Given the description of an element on the screen output the (x, y) to click on. 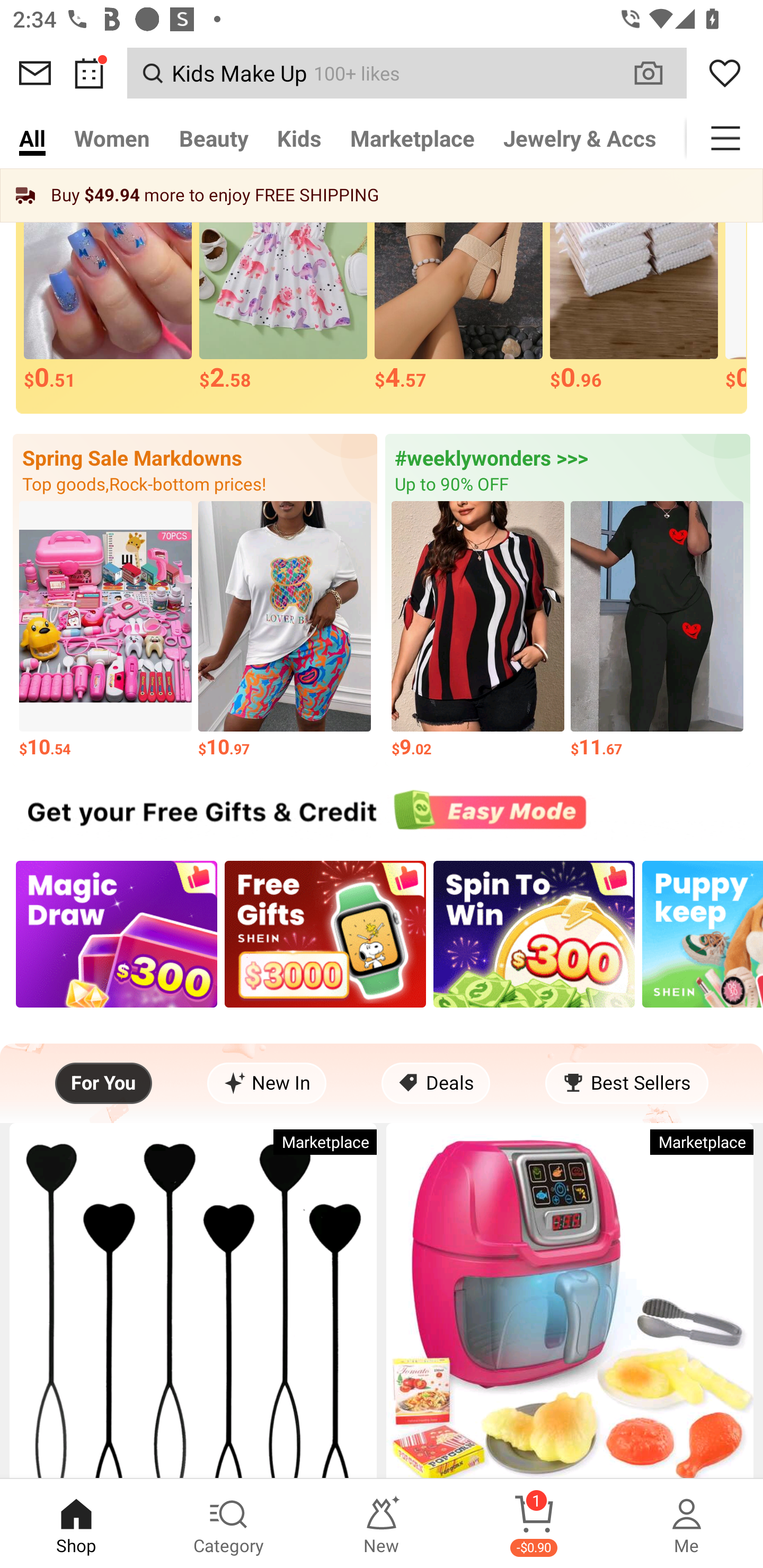
Wishlist (724, 72)
VISUAL SEARCH (657, 72)
All (31, 137)
Women (111, 137)
Beauty (213, 137)
Kids (298, 137)
Marketplace (412, 137)
Jewelry & Accs (580, 137)
Buy $49.94 more to enjoy FREE SHIPPING (381, 194)
$10.54 Price $10.54 (105, 630)
$10.97 Price $10.97 (284, 630)
$9.02 Price $9.02 (477, 630)
$11.67 Price $11.67 (656, 630)
New In (266, 1083)
Deals (435, 1083)
Best Sellers (626, 1083)
Category (228, 1523)
New (381, 1523)
Cart 1 -$0.90 (533, 1523)
Me (686, 1523)
